Given the description of an element on the screen output the (x, y) to click on. 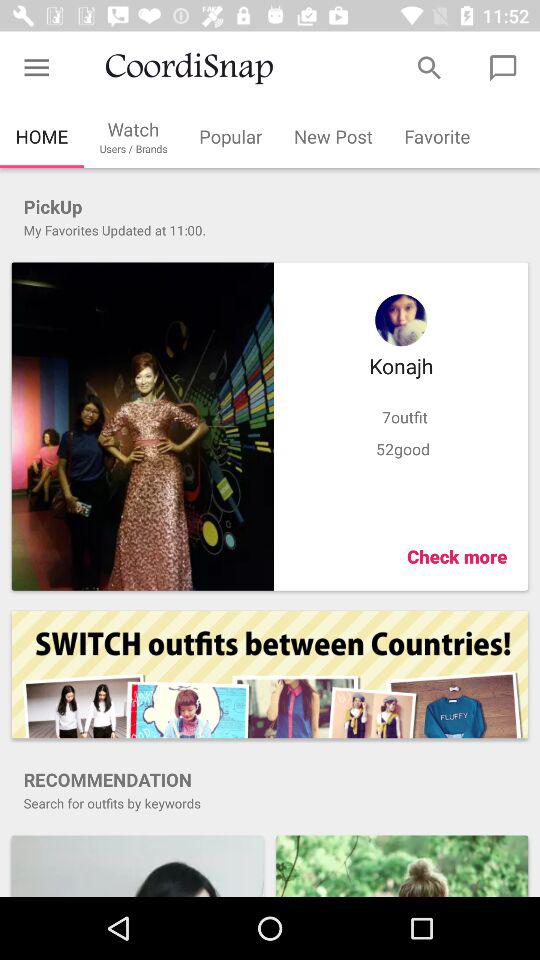
enlarge picture (402, 865)
